Given the description of an element on the screen output the (x, y) to click on. 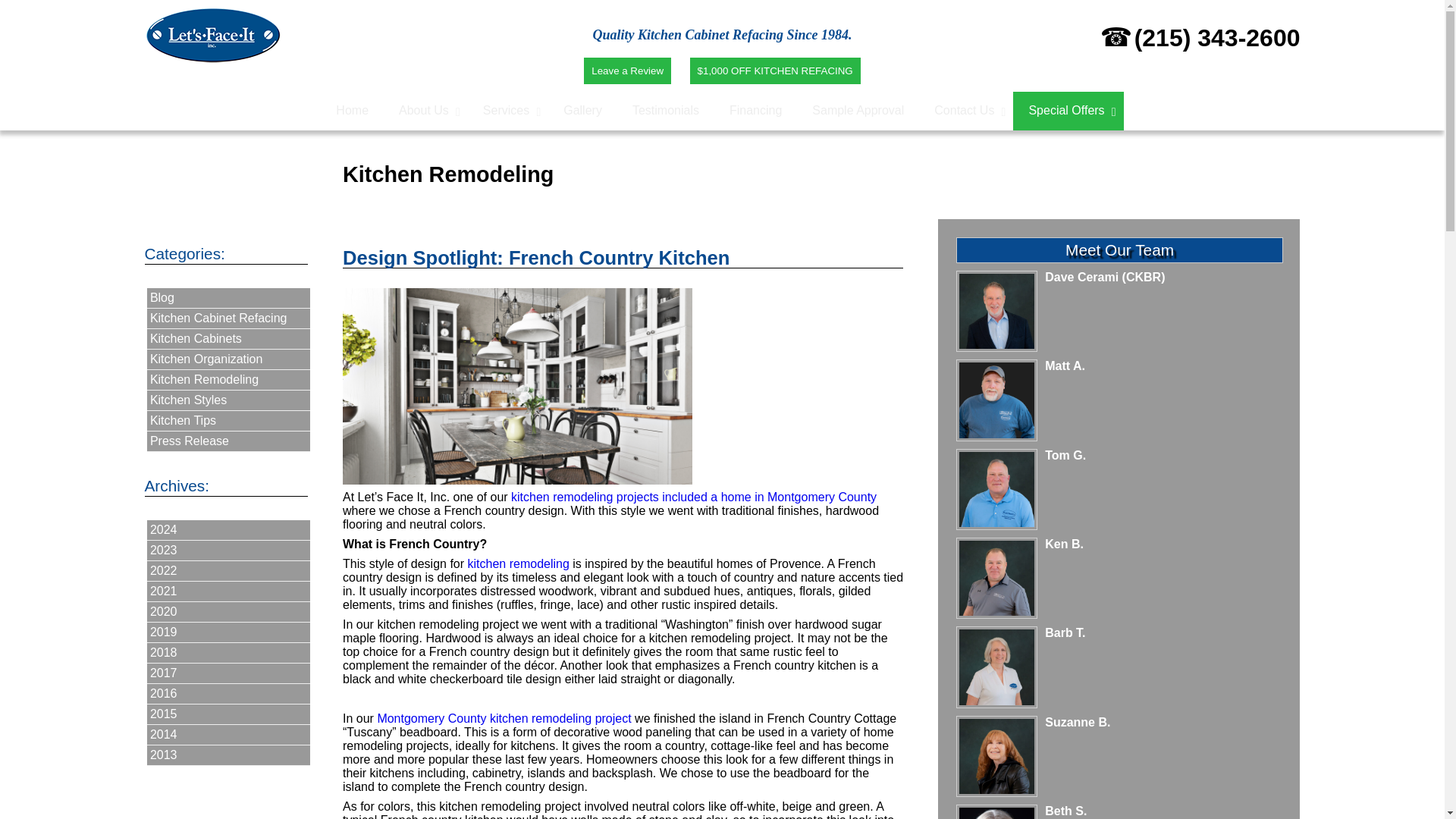
Services (507, 110)
Kitchen Tips (229, 421)
Kitchen Styles (229, 400)
Sample Approval (857, 110)
Leave a Review (627, 69)
Kitchen Remodeling (229, 380)
Blog (229, 298)
Financing (755, 110)
Kitchen Cabinet Refacing (229, 318)
Kitchen Organization (229, 359)
Special Offers (1067, 110)
Leave a Review (627, 70)
About Us (425, 110)
Gallery (582, 110)
